Given the description of an element on the screen output the (x, y) to click on. 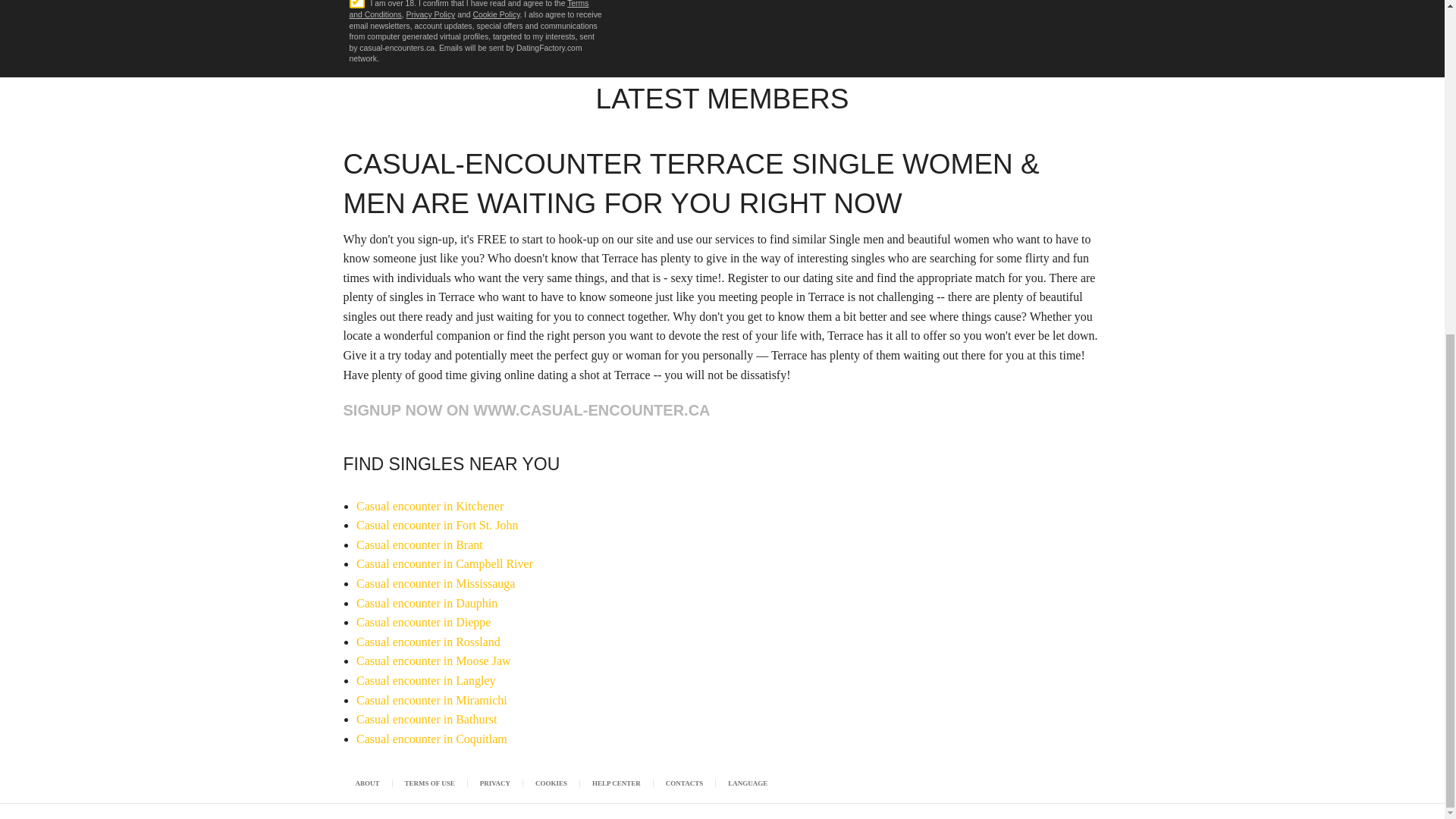
Cookie Policy (495, 14)
Casual encounter in Brant (419, 544)
Privacy Policy (430, 14)
PRIVACY (495, 783)
Casual encounter in Langley (426, 680)
HELP CENTER (616, 783)
Casual encounter in Fort St. John (437, 524)
Casual encounter in Rossland (428, 641)
Casual encounter in Fort St. John (437, 524)
ABOUT (366, 783)
